Given the description of an element on the screen output the (x, y) to click on. 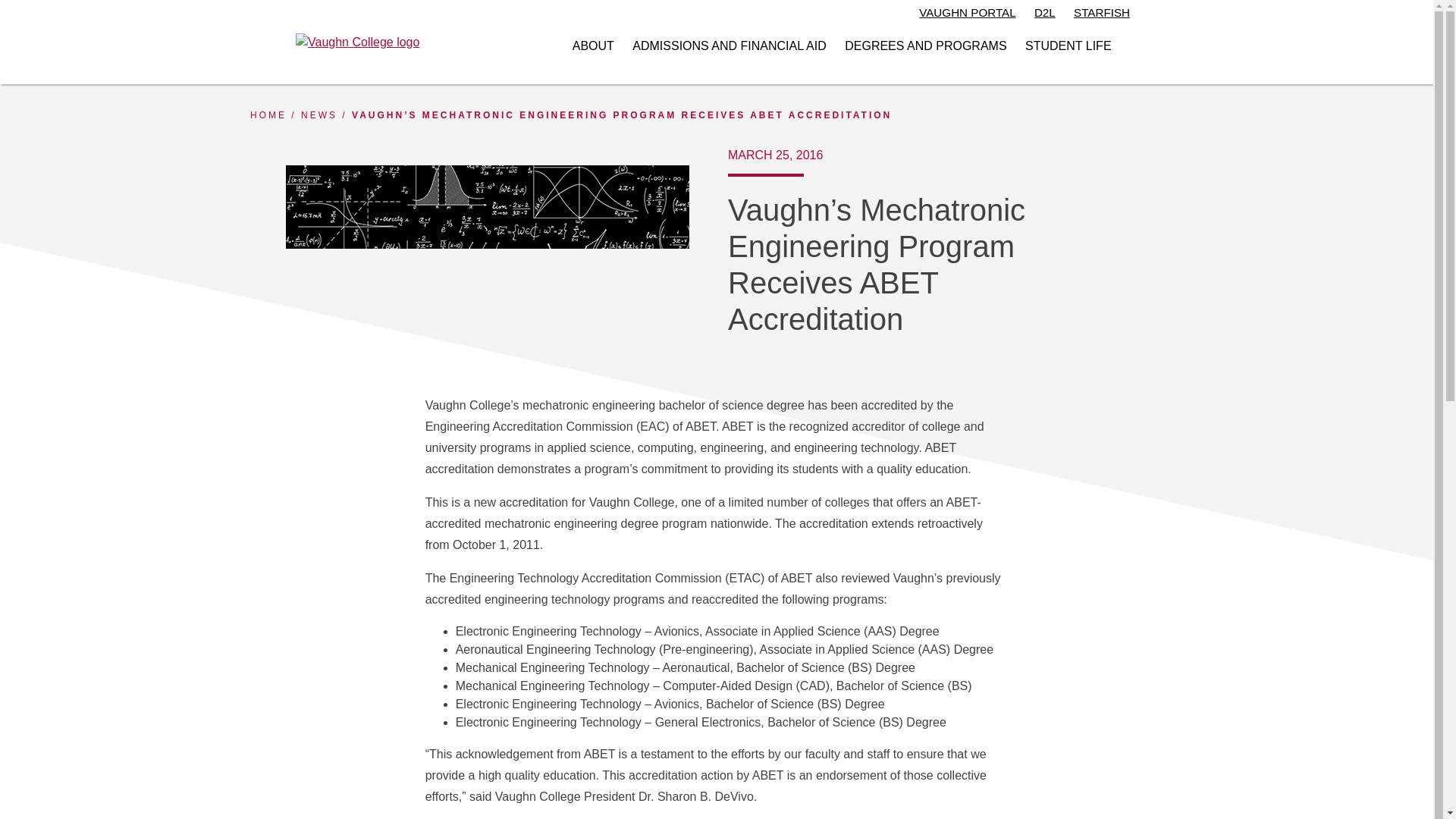
ABOUT (593, 46)
DEGREES AND PROGRAMS (925, 46)
STARFISH (1101, 14)
ADMISSIONS AND FINANCIAL AID (728, 46)
VAUGHN PORTAL (966, 14)
